Given the description of an element on the screen output the (x, y) to click on. 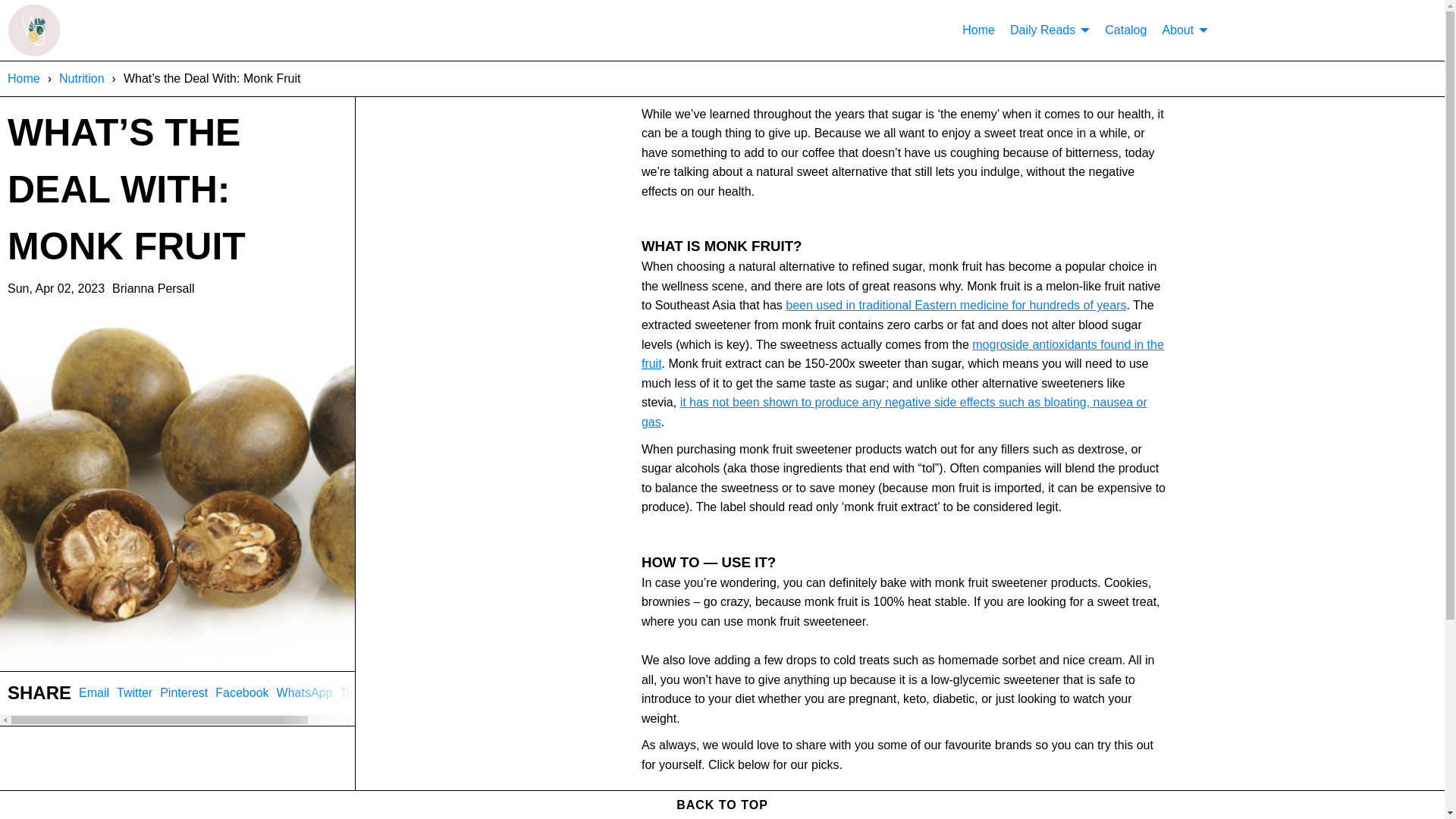
mogroside antioxidants found in the fruit (177, 698)
nausea or gas (902, 354)
Pinterest (894, 411)
Email (184, 692)
Home (93, 692)
ng, (23, 78)
Telegram (1083, 401)
Nutrition (364, 692)
